Given the description of an element on the screen output the (x, y) to click on. 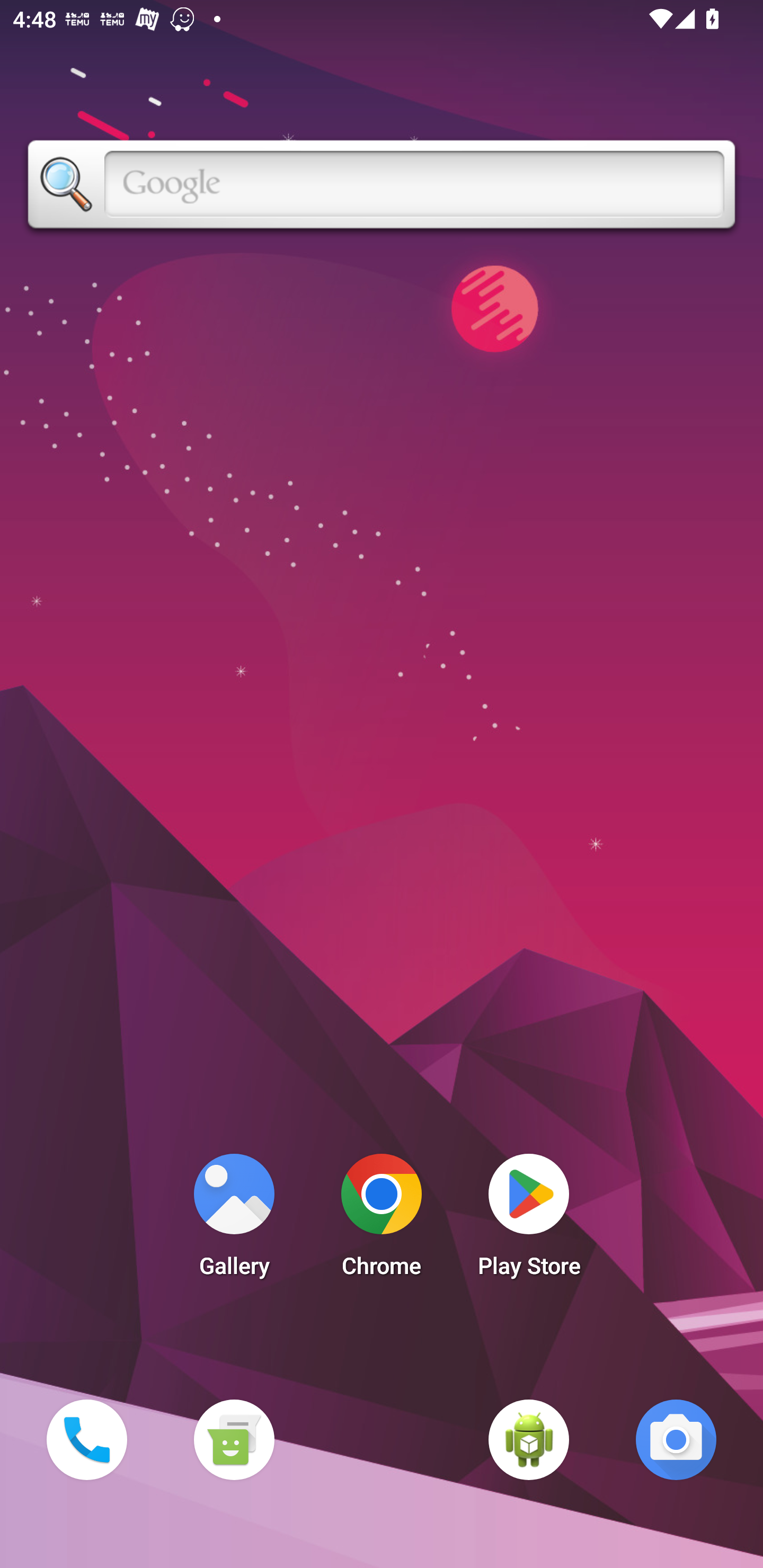
Gallery (233, 1220)
Chrome (381, 1220)
Play Store (528, 1220)
Phone (86, 1439)
Messaging (233, 1439)
WebView Browser Tester (528, 1439)
Camera (676, 1439)
